Given the description of an element on the screen output the (x, y) to click on. 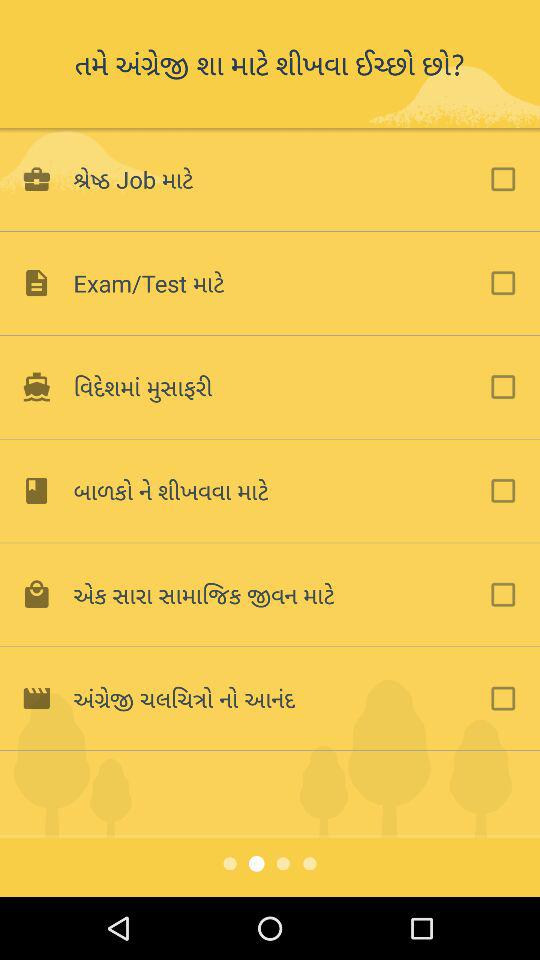
click on second checkbox from bottom right corner (503, 594)
